Given the description of an element on the screen output the (x, y) to click on. 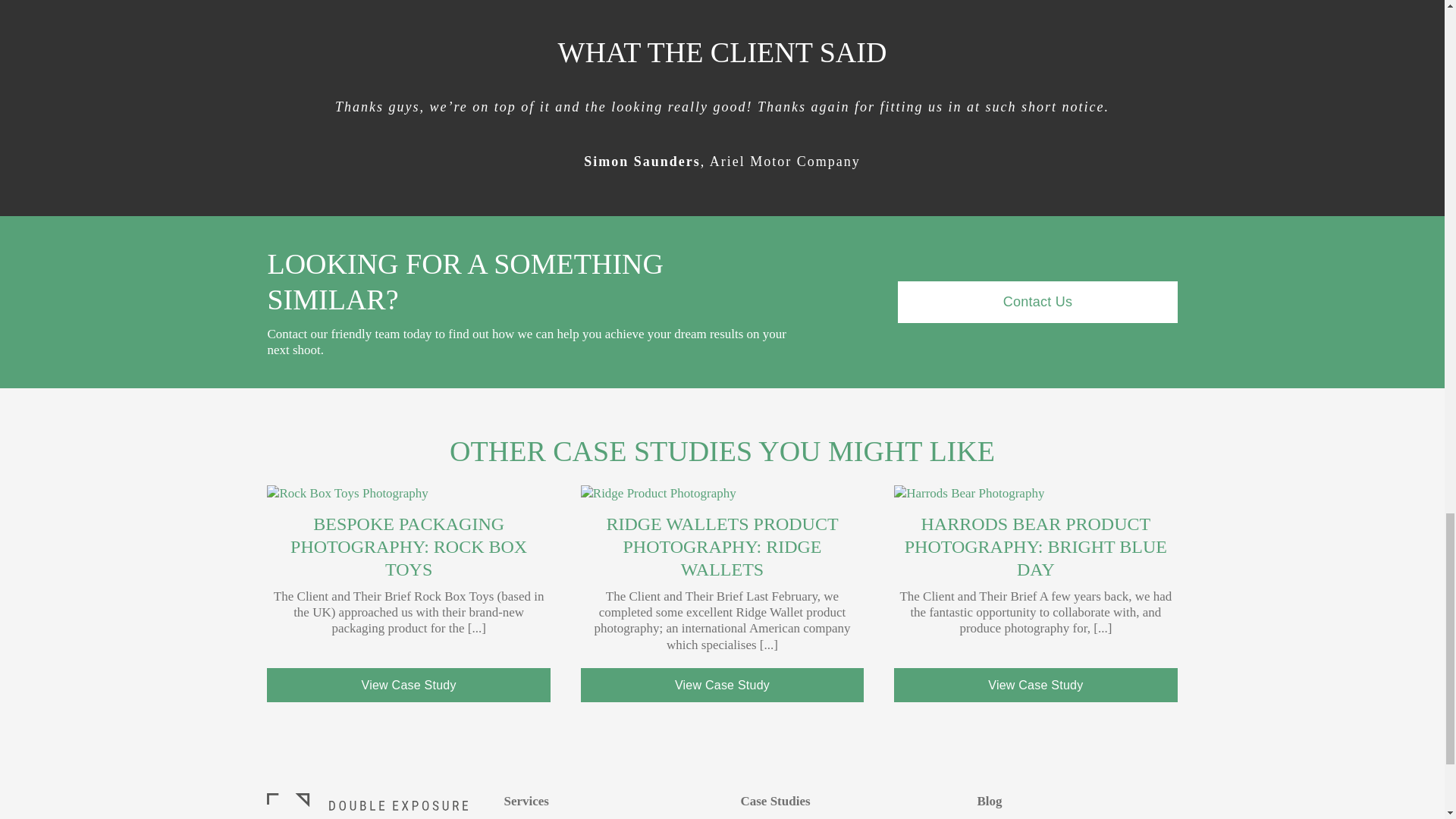
Contact Us (1037, 301)
BESPOKE PACKAGING PHOTOGRAPHY: ROCK BOX TOYS (408, 546)
